Given the description of an element on the screen output the (x, y) to click on. 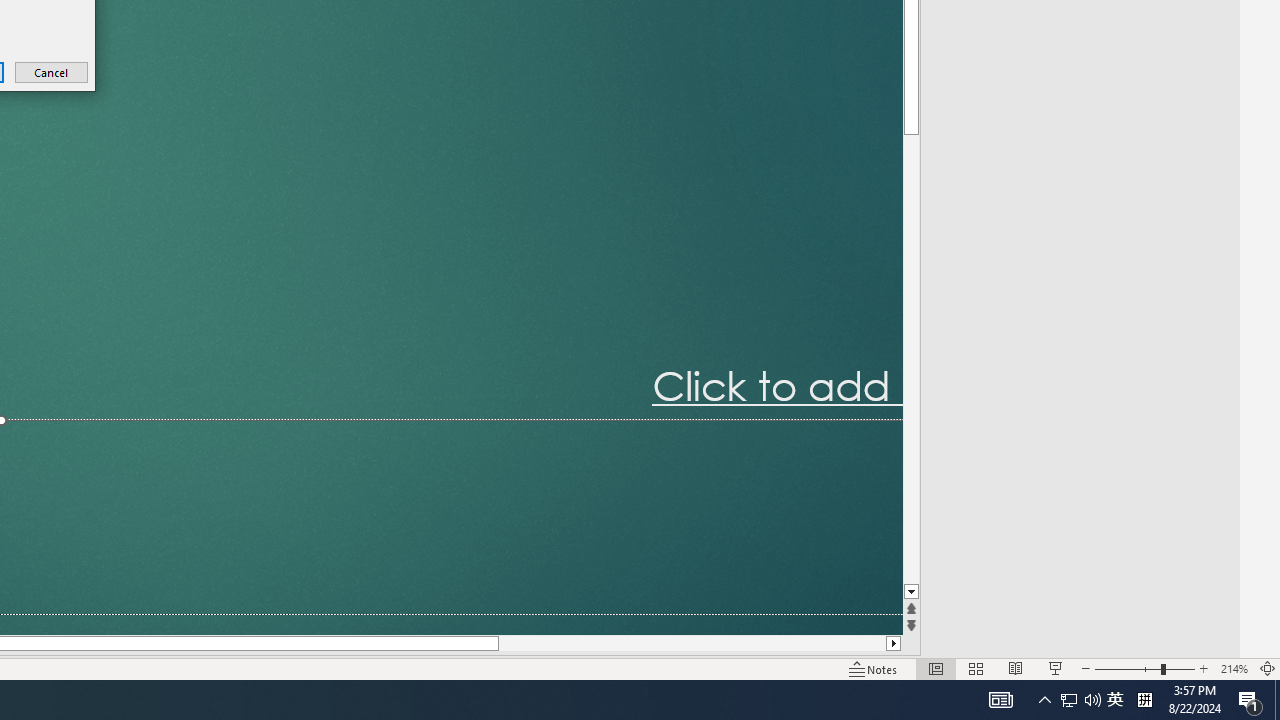
Action Center, 1 new notification (1250, 699)
